Given the description of an element on the screen output the (x, y) to click on. 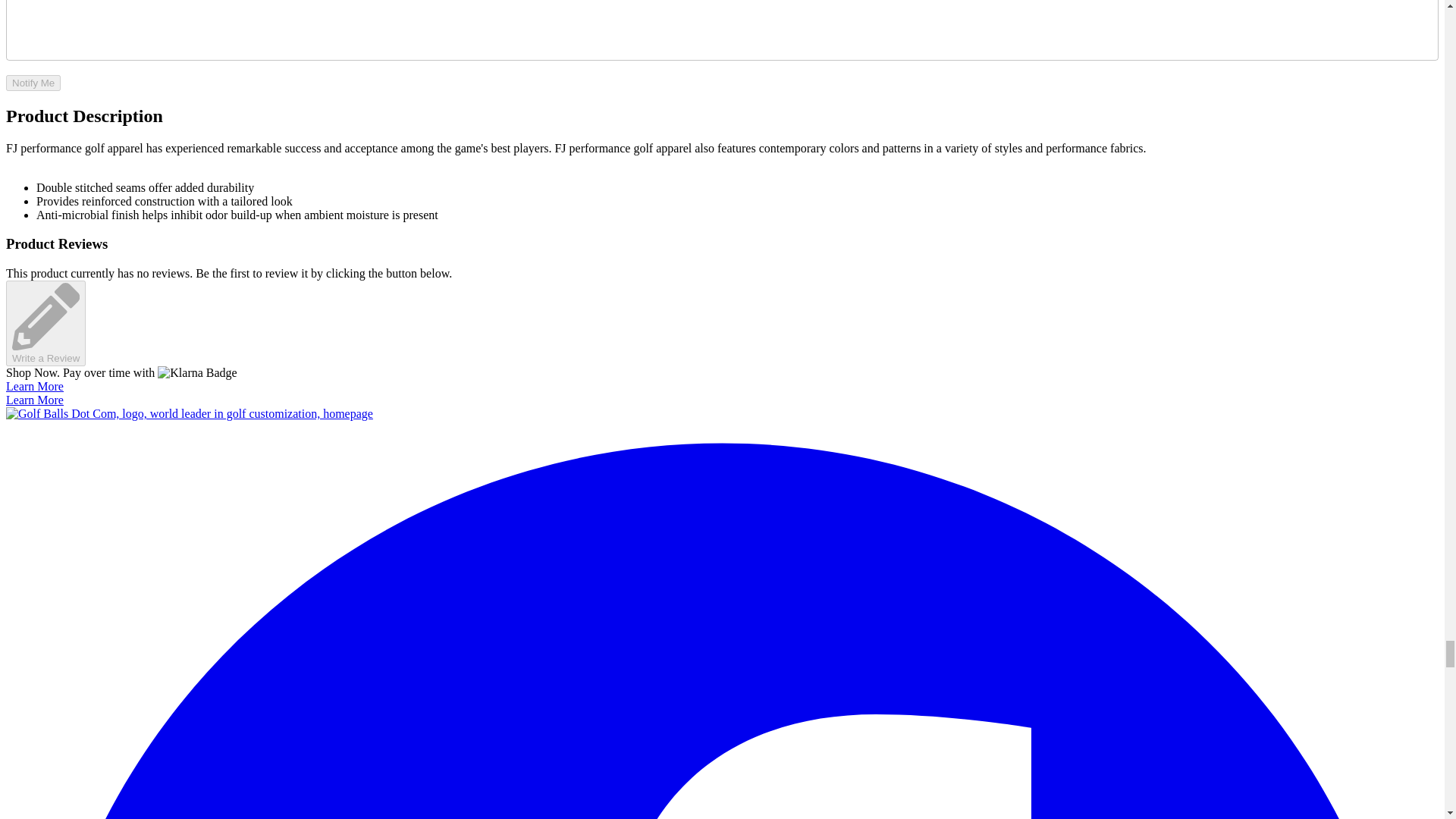
Learn More (34, 399)
Write a Review (45, 323)
Notify Me (33, 82)
Learn More (34, 386)
